Given the description of an element on the screen output the (x, y) to click on. 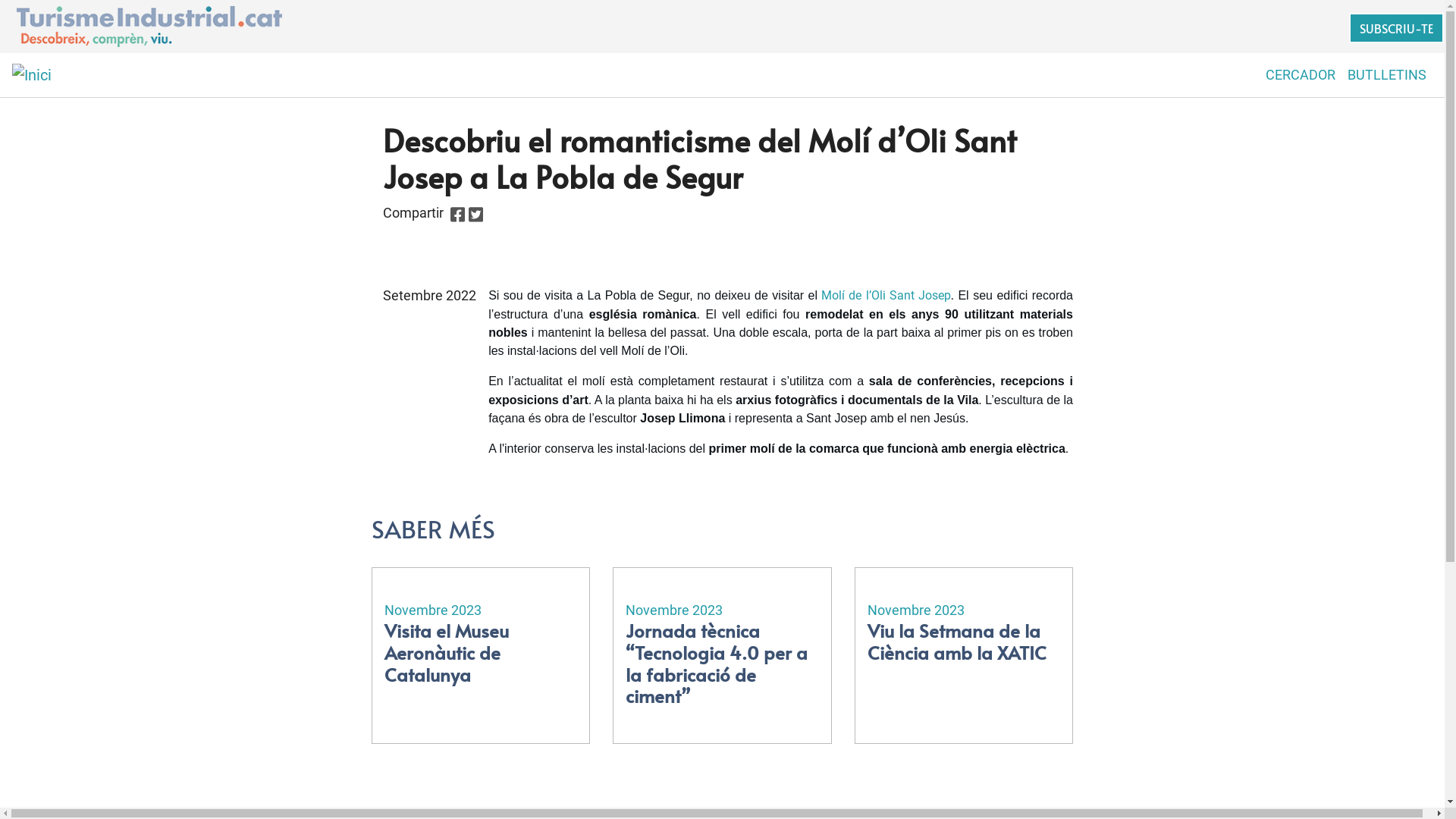
SUBSCRIU-TE Element type: text (1396, 27)
Inici Element type: hover (31, 74)
BUTLLETINS Element type: text (1386, 75)
CERCADOR Element type: text (1300, 75)
